Given the description of an element on the screen output the (x, y) to click on. 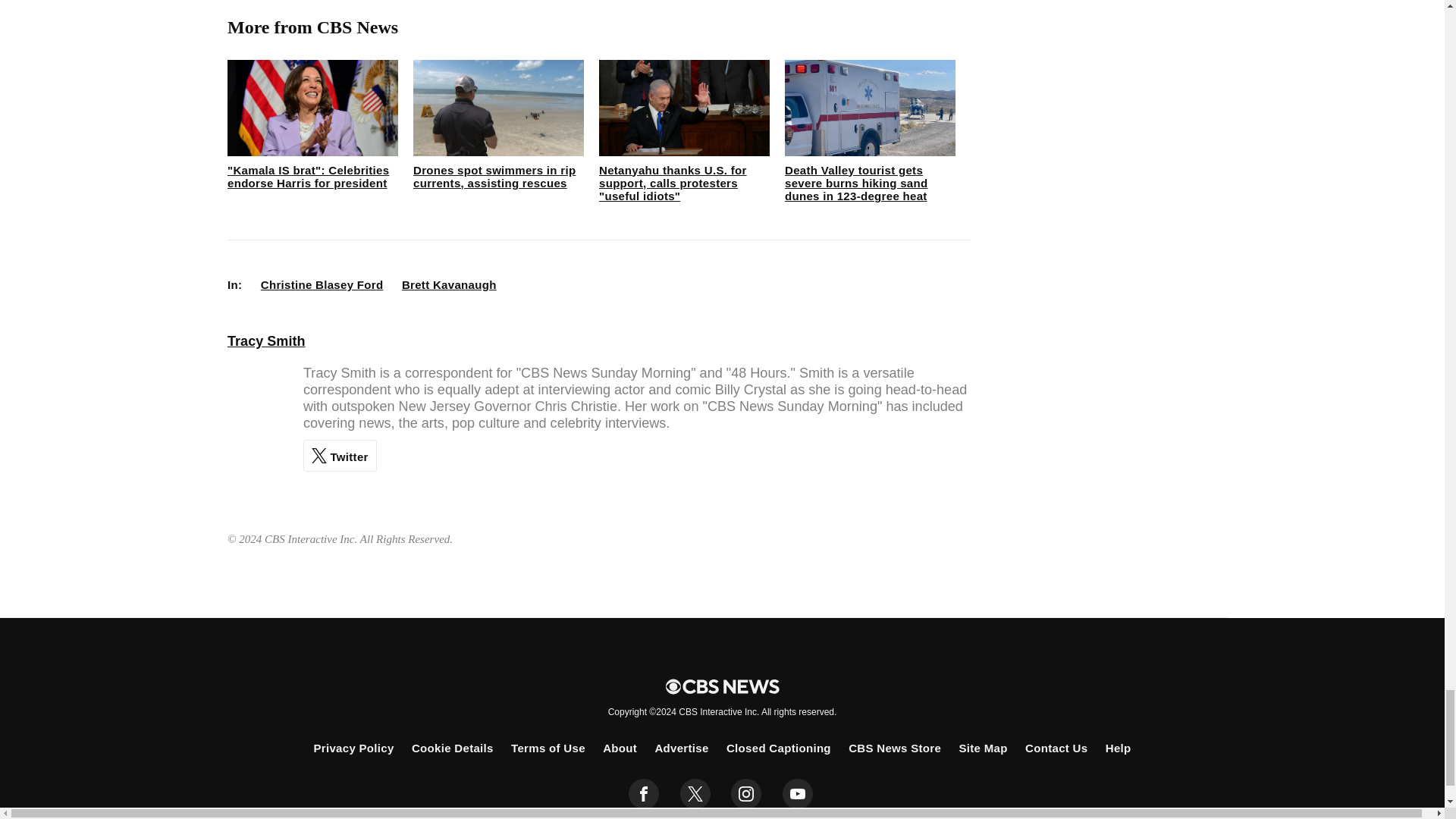
twitter (694, 793)
youtube (797, 793)
facebook (643, 793)
instagram (745, 793)
